Given the description of an element on the screen output the (x, y) to click on. 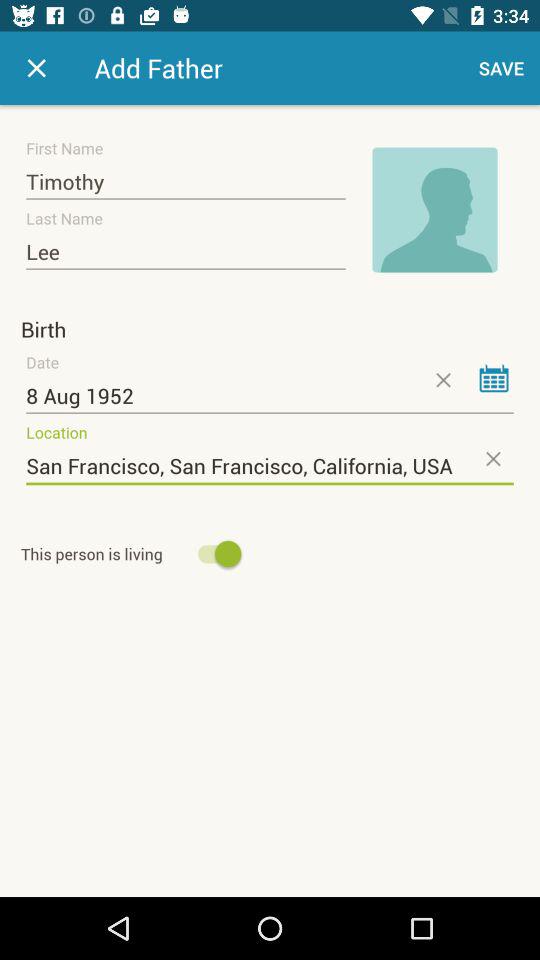
clear birth date (442, 380)
